Given the description of an element on the screen output the (x, y) to click on. 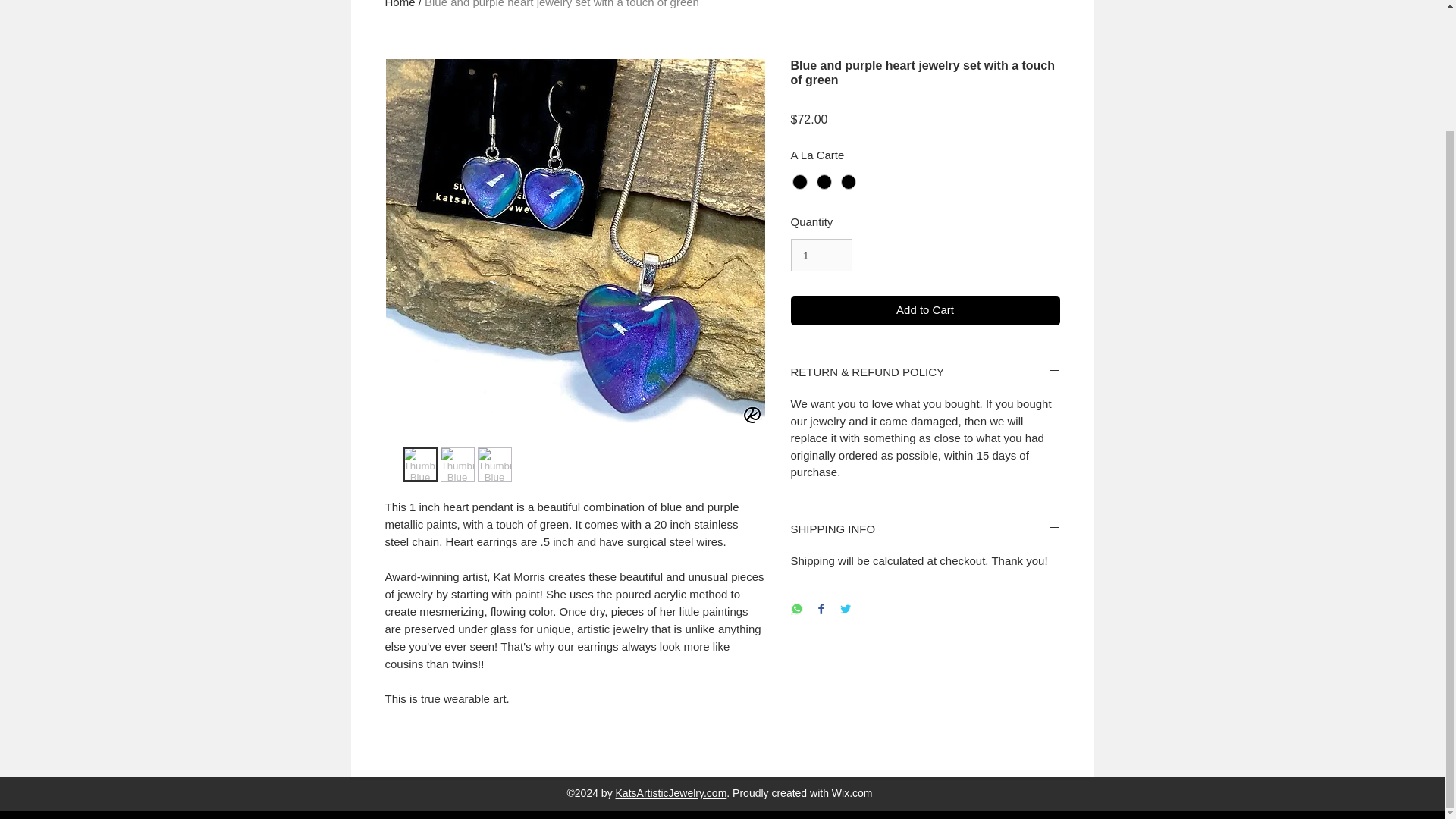
1 (820, 255)
